Given the description of an element on the screen output the (x, y) to click on. 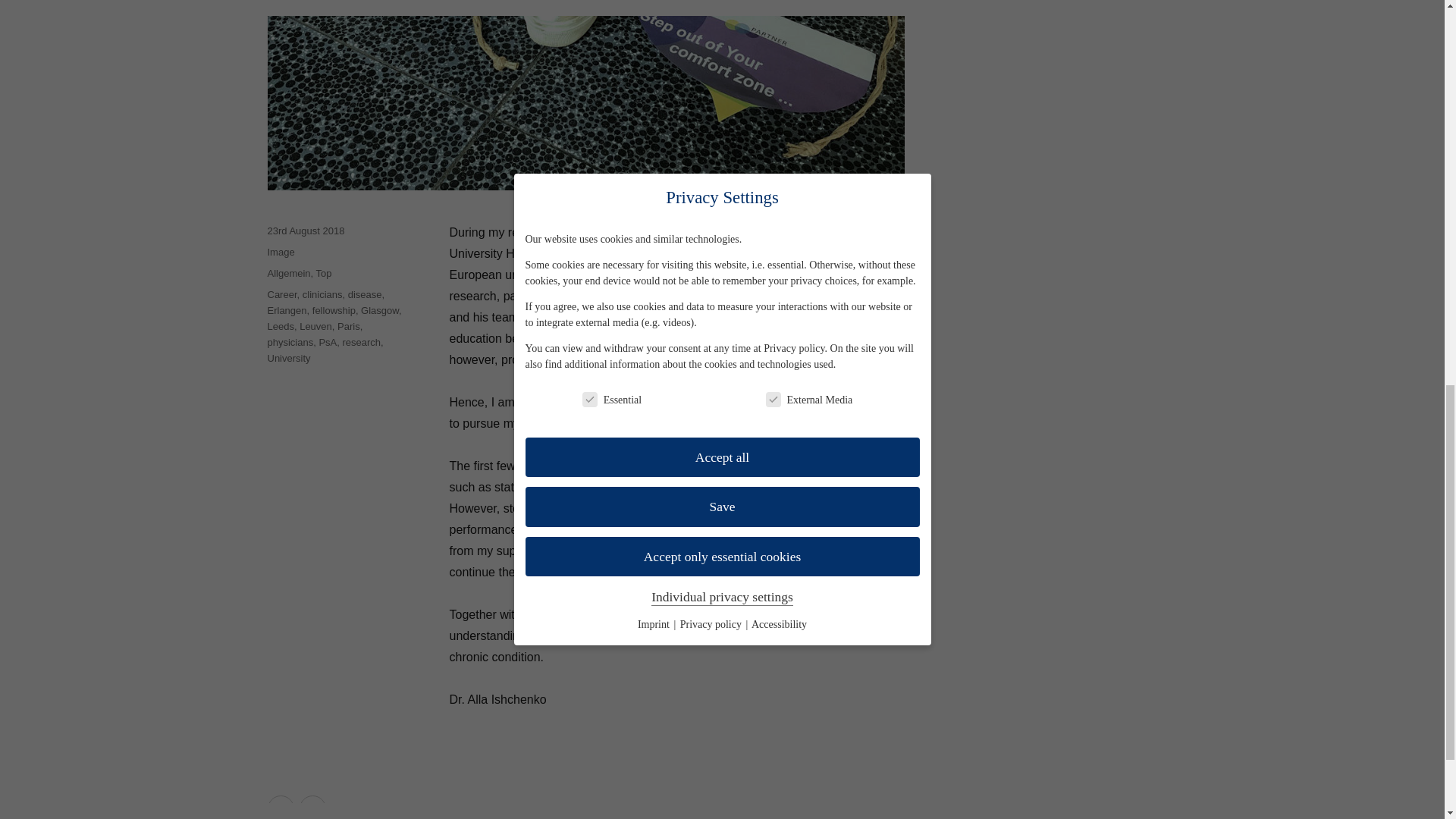
Glasgow (379, 310)
23rd August 2018 (304, 230)
Allgemein (288, 273)
disease (364, 294)
Image (280, 251)
Leuven (315, 326)
Paris (348, 326)
research (361, 342)
physicians (289, 342)
PsA (327, 342)
Erlangen (285, 310)
fellowship (334, 310)
clinicians (322, 294)
Top (323, 273)
Career (281, 294)
